Given the description of an element on the screen output the (x, y) to click on. 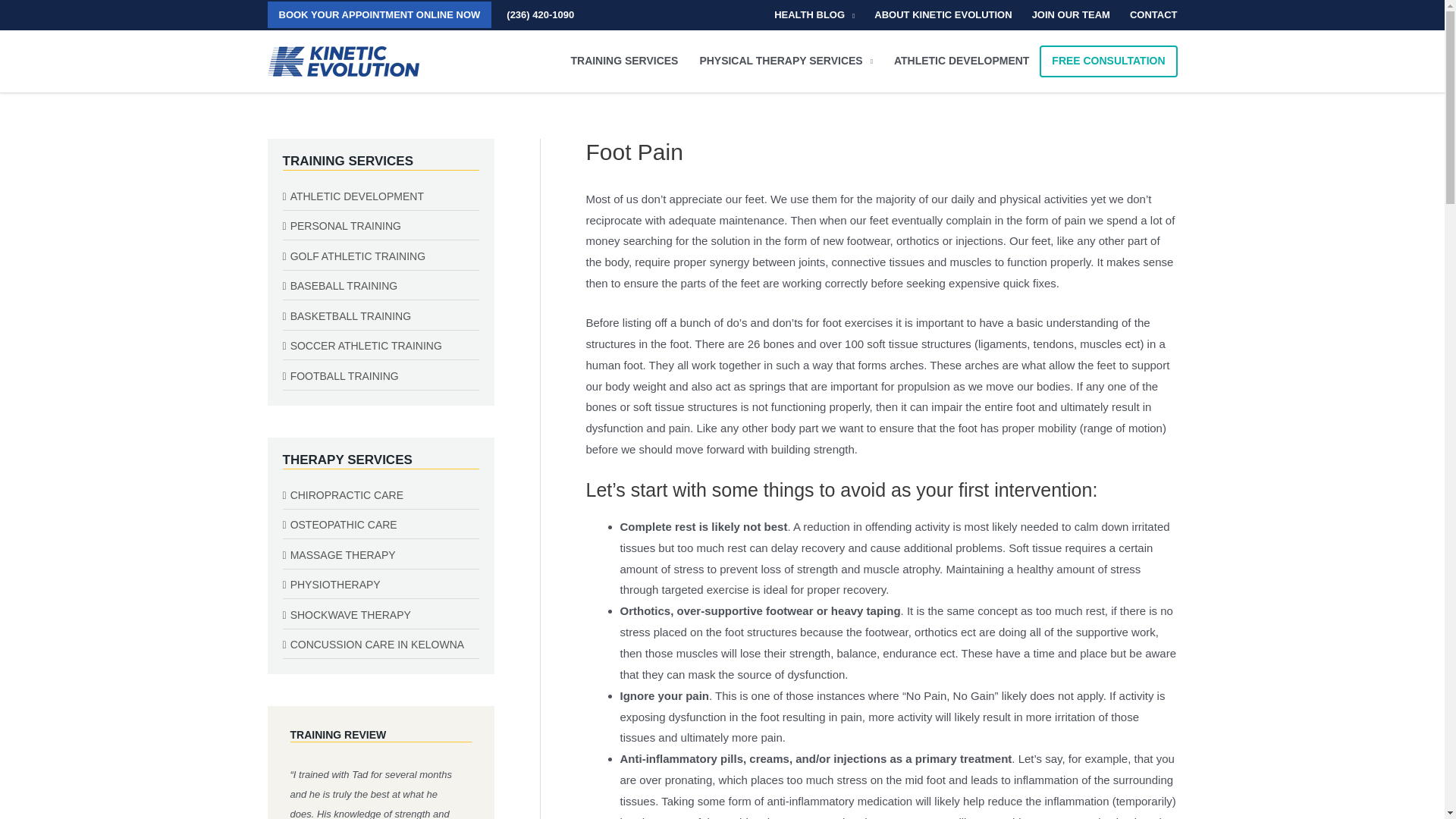
PHYSICAL THERAPY SERVICES (785, 60)
JOIN OUR TEAM (1070, 15)
FREE CONSULTATION (1107, 60)
BOOK YOUR APPOINTMENT ONLINE NOW (379, 14)
ATHLETIC DEVELOPMENT (961, 60)
ABOUT KINETIC EVOLUTION (943, 15)
CONTACT (1148, 15)
HEALTH BLOG (814, 15)
Book an Appointment Using JaneApp.com (379, 14)
TRAINING SERVICES (623, 60)
